Given the description of an element on the screen output the (x, y) to click on. 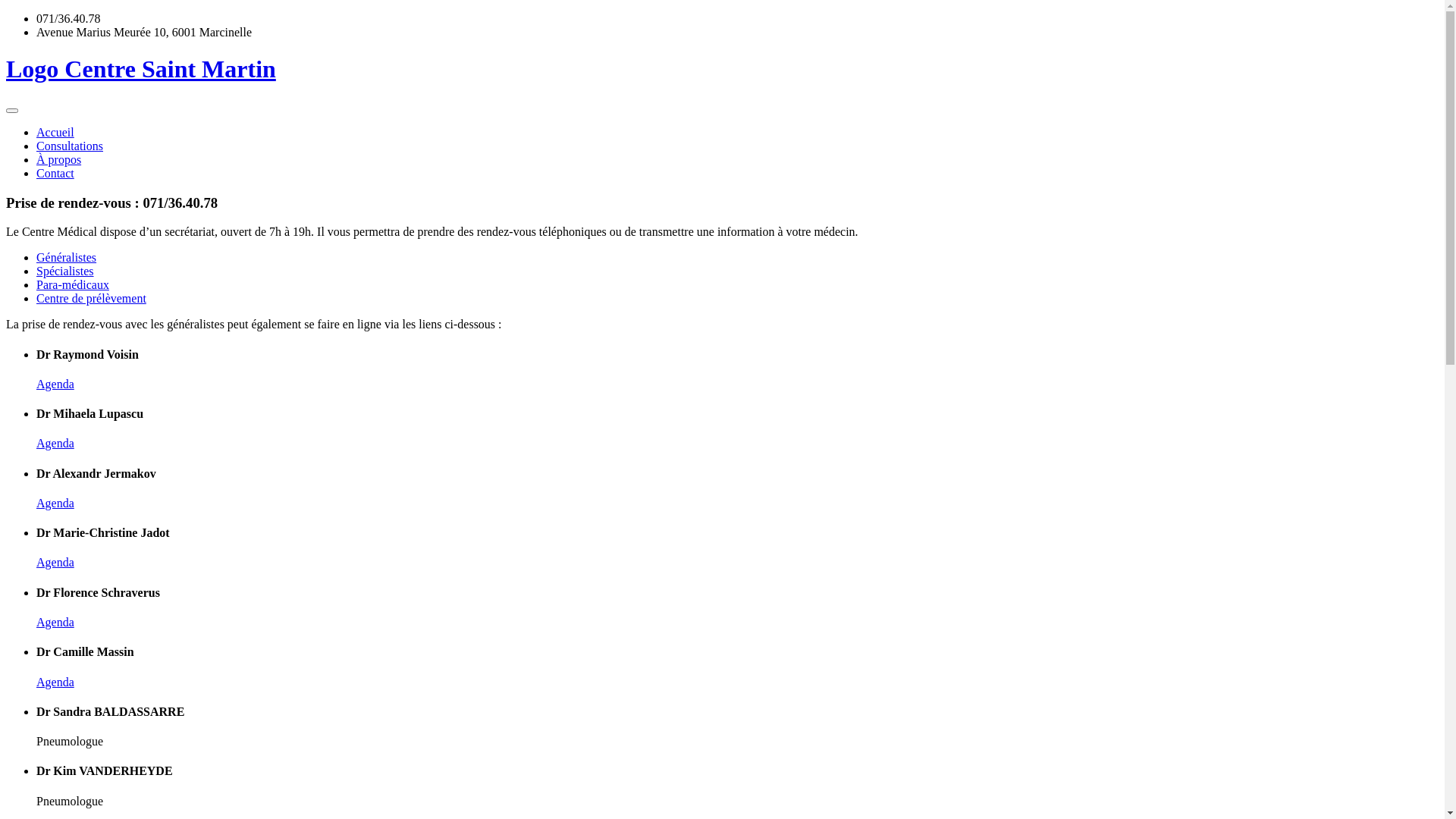
Logo Centre Saint Martin Element type: text (722, 83)
Agenda Element type: text (55, 680)
Agenda Element type: text (55, 502)
Agenda Element type: text (55, 561)
Agenda Element type: text (55, 383)
Agenda Element type: text (55, 621)
Consultations Element type: text (69, 145)
Contact Element type: text (55, 172)
Accueil Element type: text (55, 131)
Agenda Element type: text (55, 442)
